Given the description of an element on the screen output the (x, y) to click on. 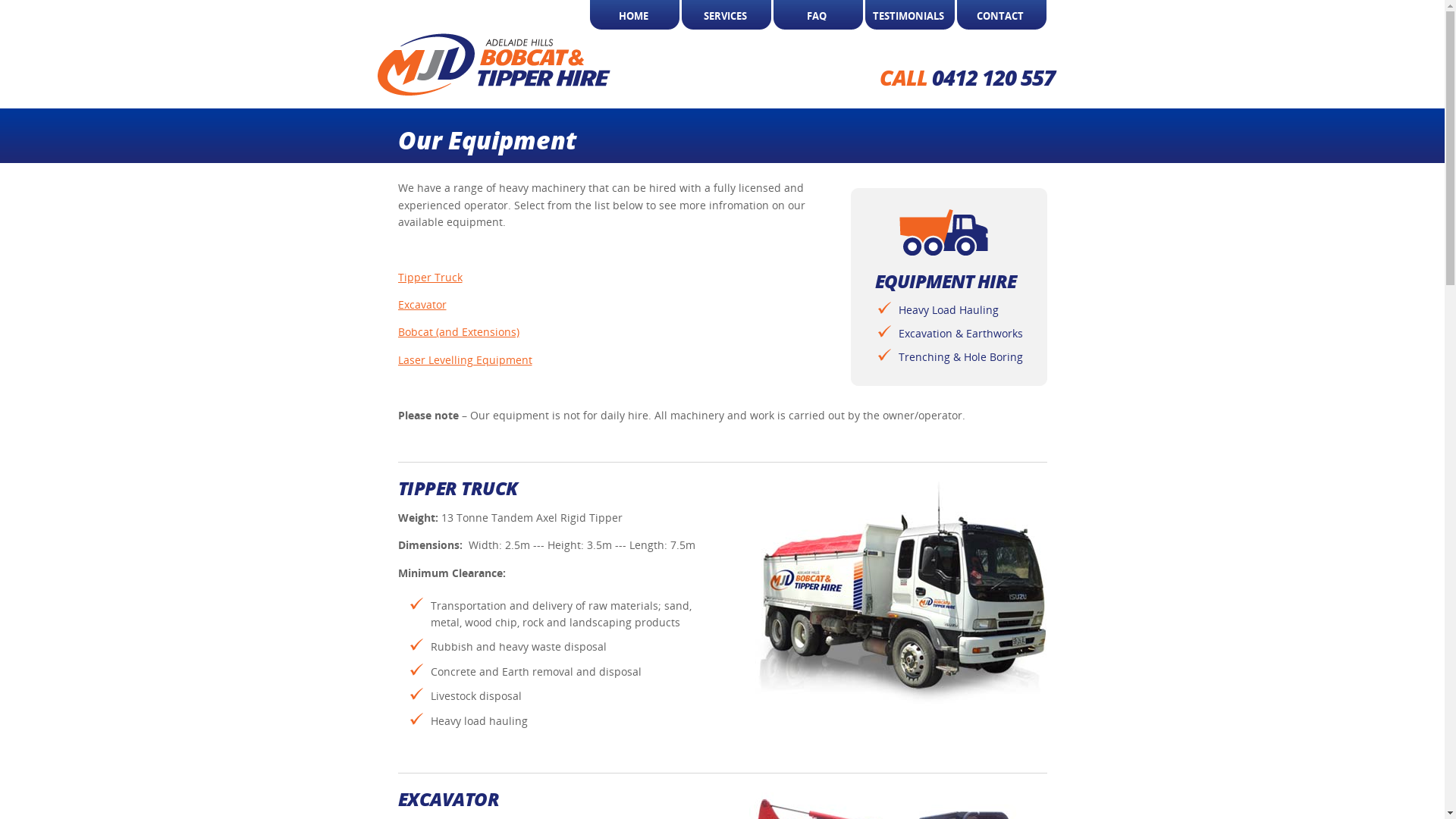
TESTIMONIALS Element type: text (908, 15)
Bobcat (and Extensions) Element type: text (457, 331)
SERVICES Element type: text (725, 15)
Excavator Element type: text (421, 304)
HOME Element type: text (632, 15)
Tipper Truck Element type: text (429, 276)
CONTACT Element type: text (999, 15)
FAQ Element type: text (816, 15)
Laser Levelling Equipment Element type: text (464, 359)
